Given the description of an element on the screen output the (x, y) to click on. 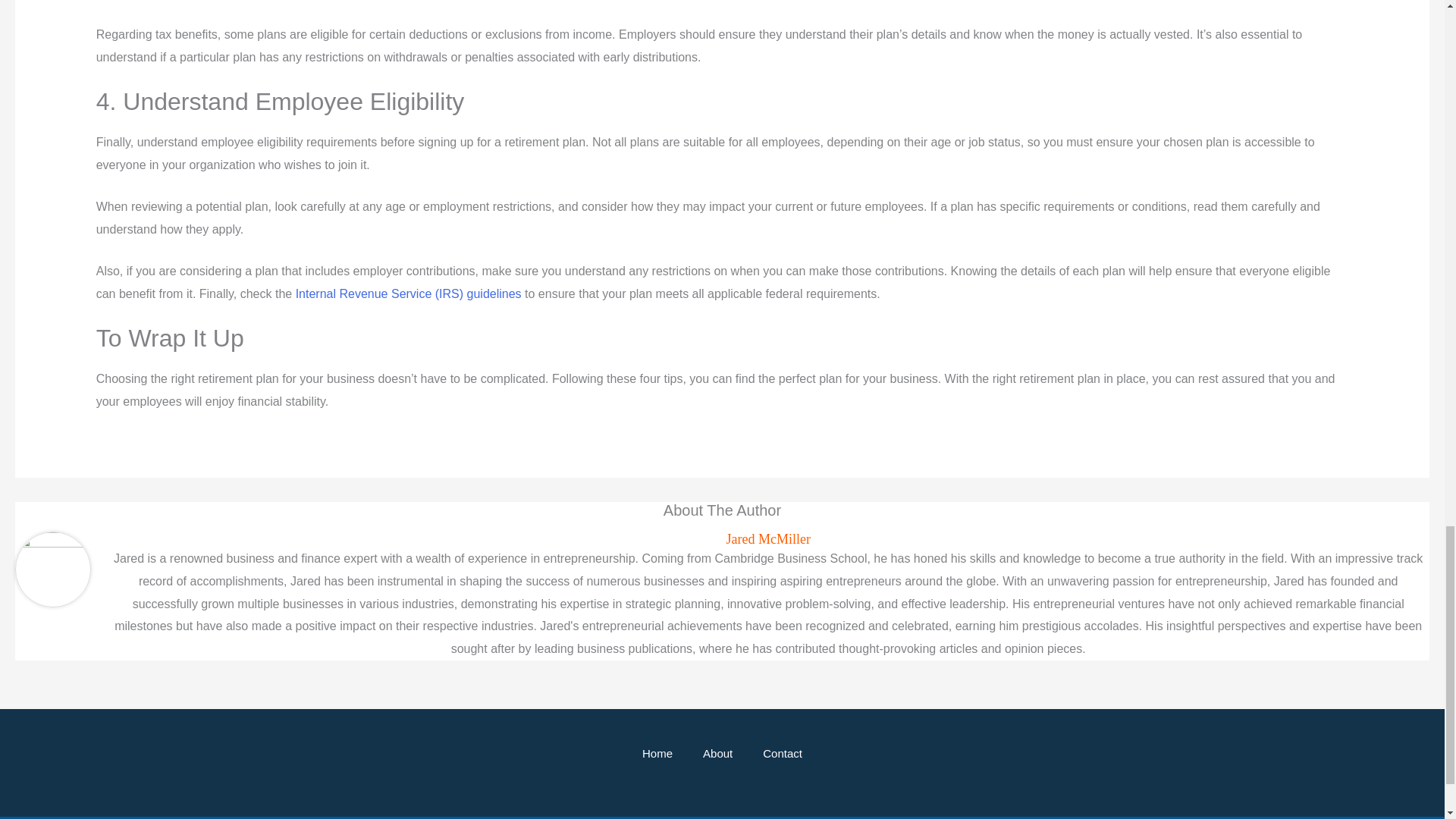
Contact (782, 753)
Jared McMiller (767, 539)
About (717, 753)
Home (657, 753)
